Given the description of an element on the screen output the (x, y) to click on. 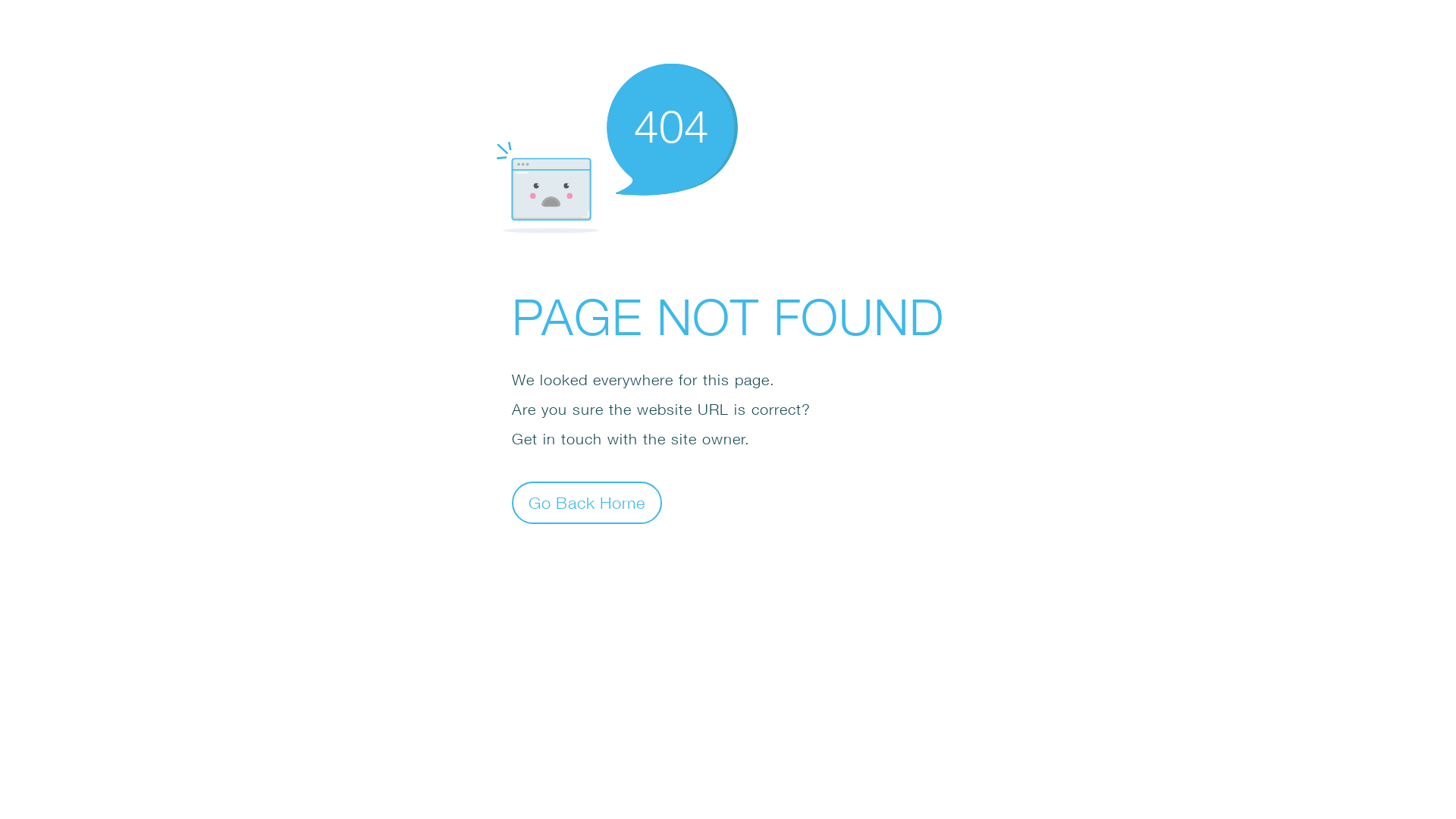
Go Back Home Element type: text (586, 502)
